Given the description of an element on the screen output the (x, y) to click on. 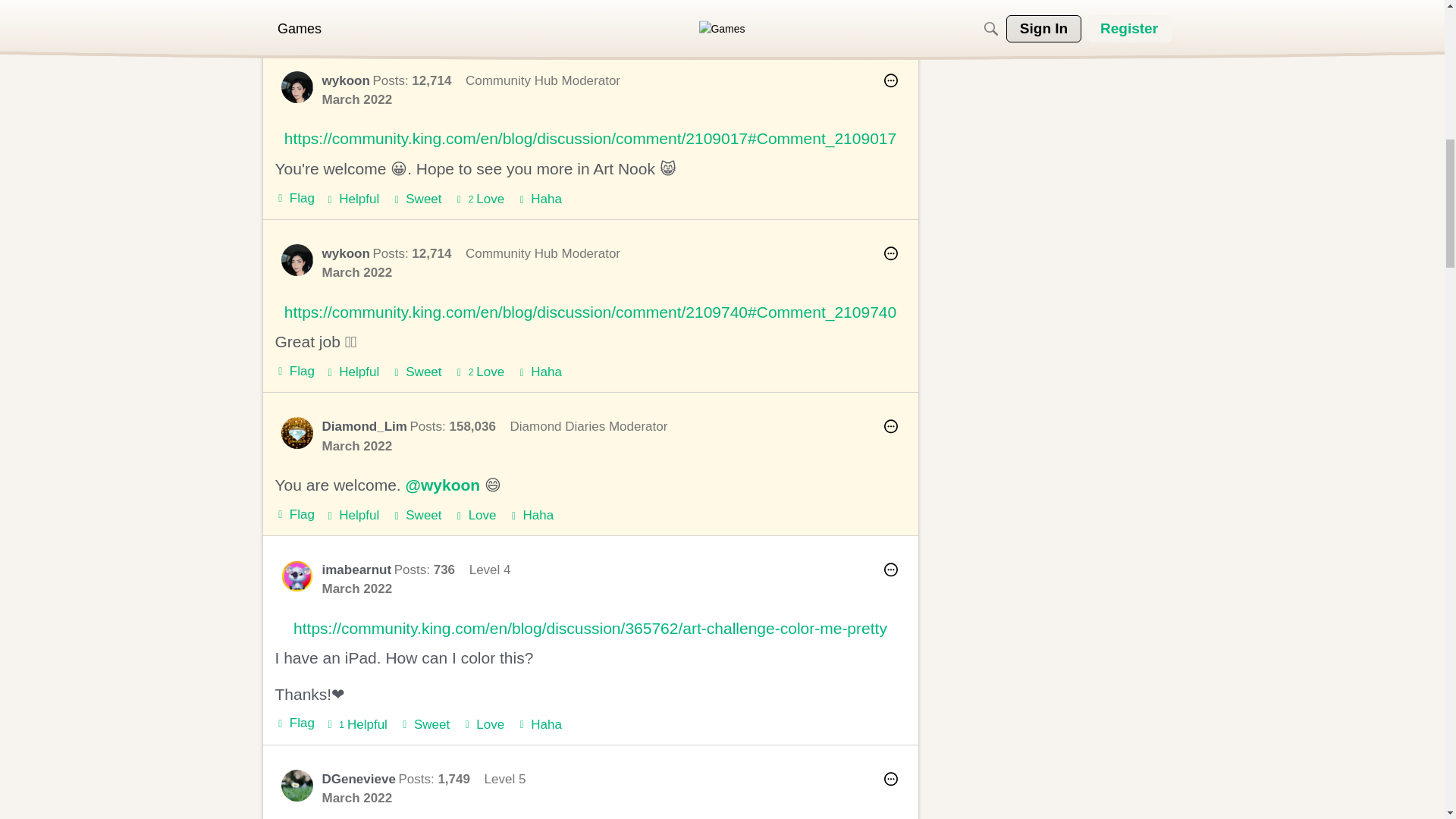
1 (601, 21)
Helpful (351, 199)
wykoon (345, 80)
Love (479, 199)
16 (788, 21)
Community Hub Moderator (542, 253)
Sweet (416, 199)
Haha (539, 199)
Helpful (351, 199)
13 (708, 21)
Sweet (416, 199)
wykoon (297, 87)
Haha (539, 199)
Previous Page (572, 21)
12 (681, 21)
